Given the description of an element on the screen output the (x, y) to click on. 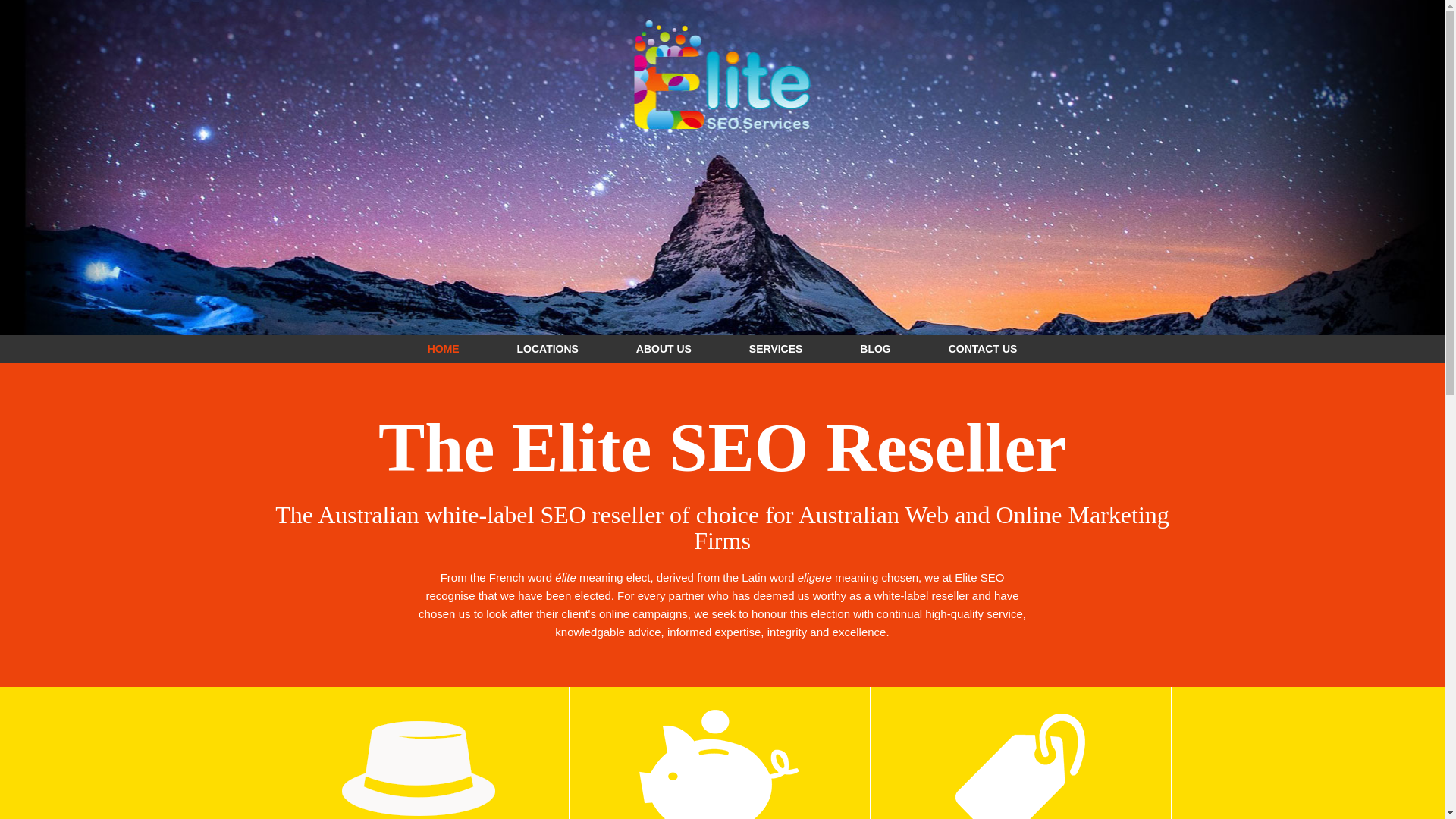
SERVICES Element type: text (776, 348)
ABOUT US Element type: text (663, 348)
BLOG Element type: text (874, 348)
HOME Element type: text (443, 348)
CONTACT US Element type: text (982, 348)
LOCATIONS Element type: text (547, 348)
